Given the description of an element on the screen output the (x, y) to click on. 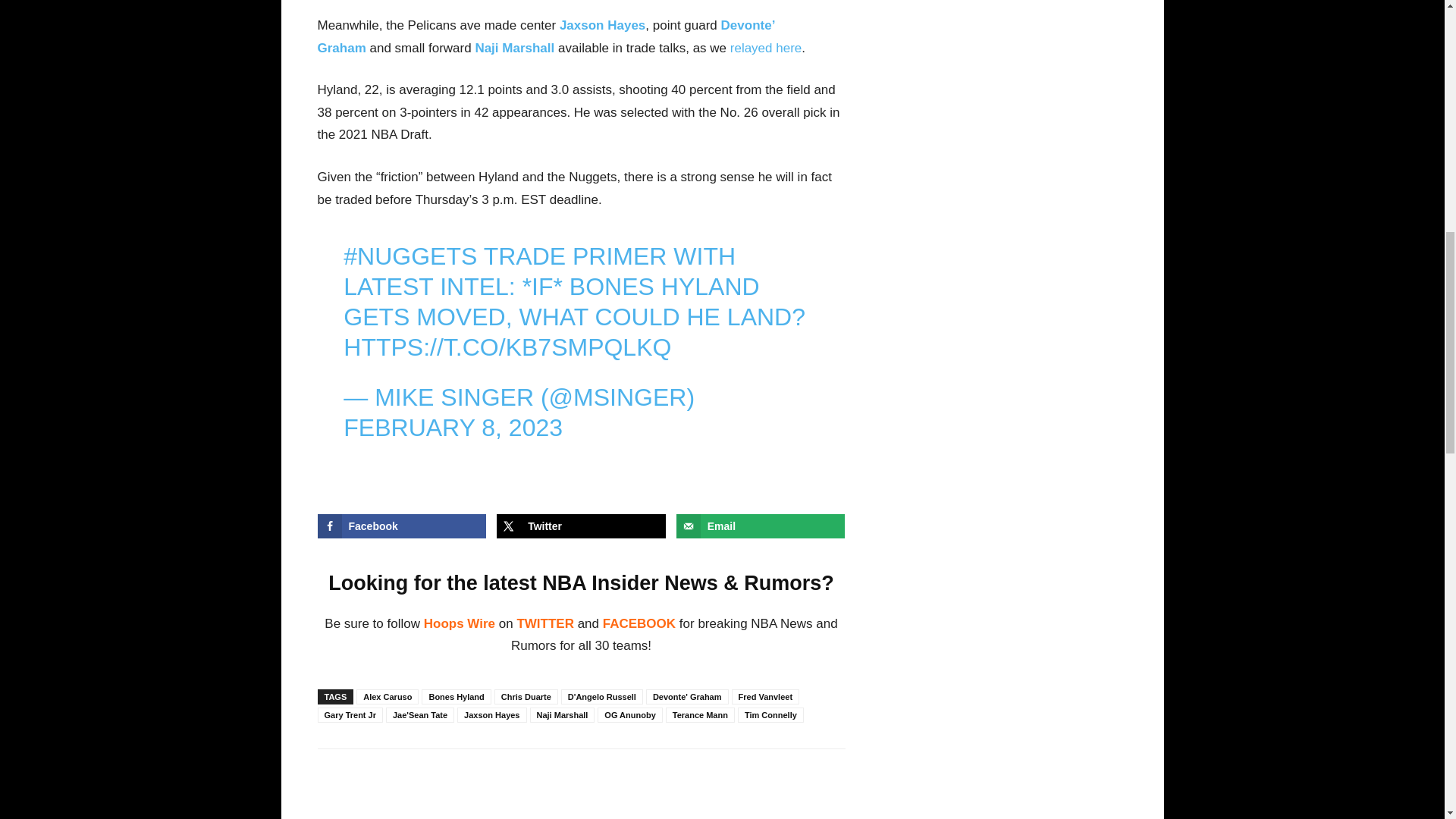
Share on Facebook (401, 526)
Share on X (580, 526)
Send over email (761, 526)
